Given the description of an element on the screen output the (x, y) to click on. 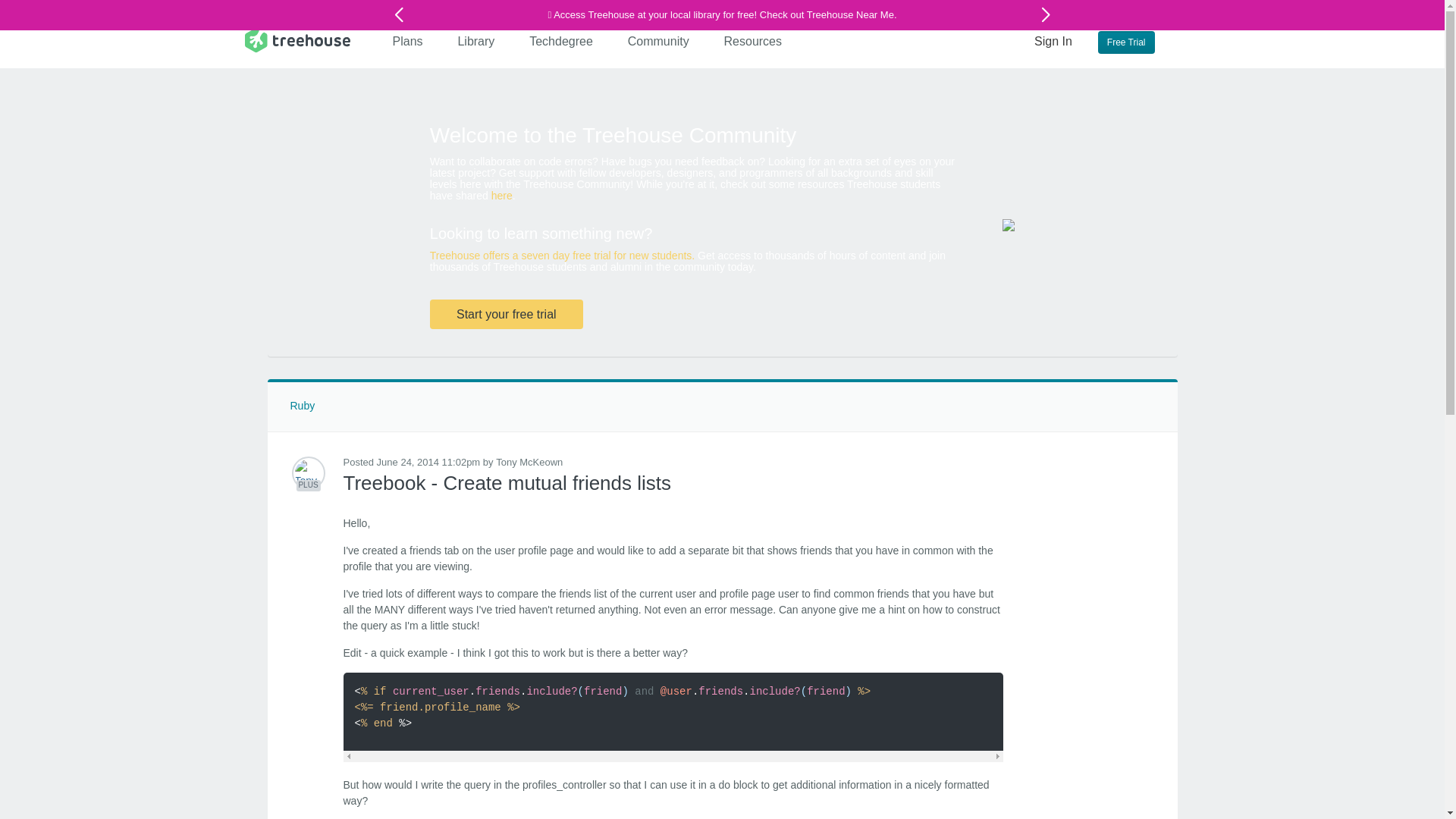
Treehouse Logo (296, 39)
Treehouse Near Me (849, 14)
Library (475, 41)
Plans (408, 41)
Treehouse Logo (296, 39)
